Given the description of an element on the screen output the (x, y) to click on. 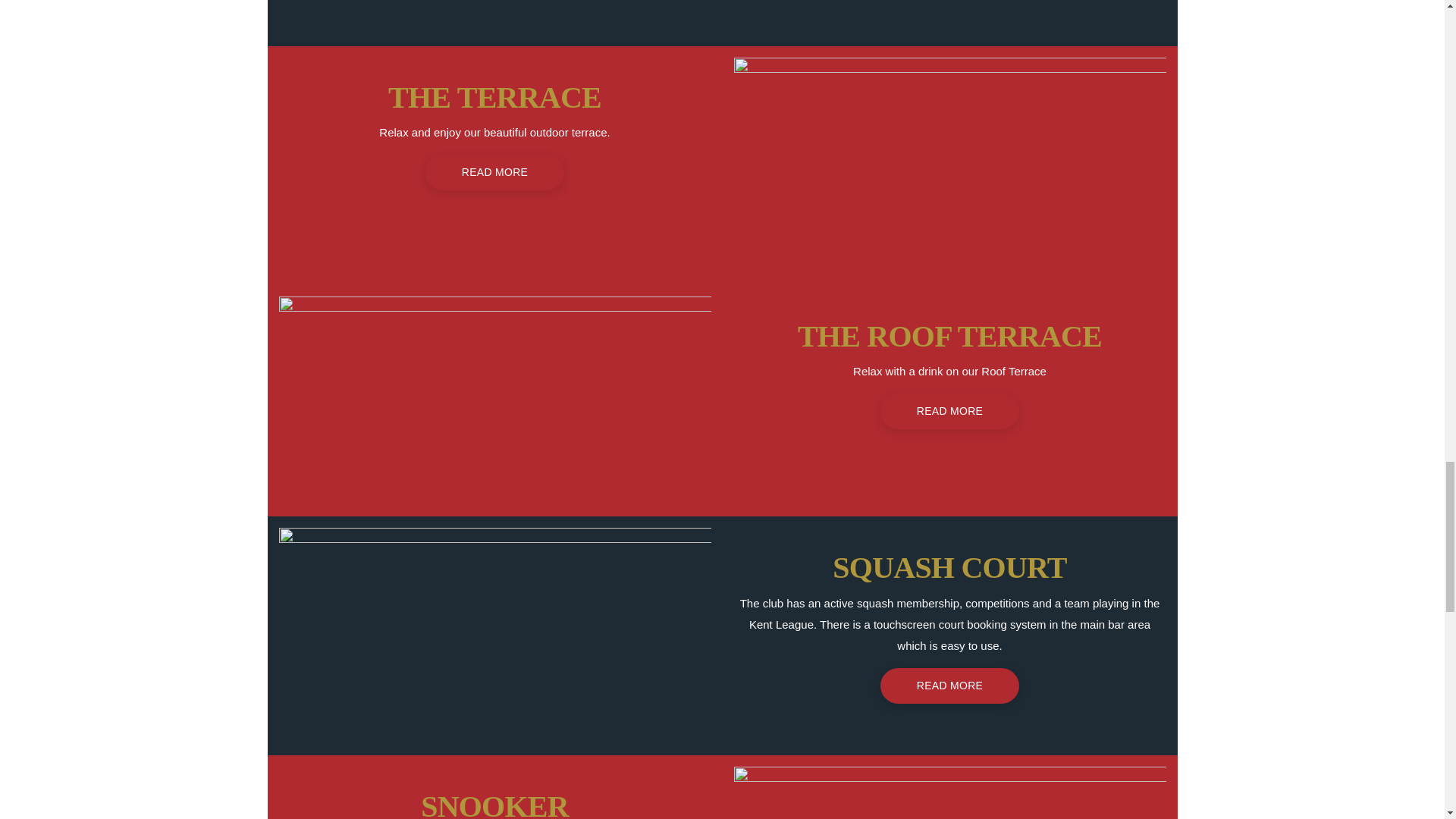
the-terrace (949, 165)
squash (495, 635)
the-roof-terrace (495, 401)
